Given the description of an element on the screen output the (x, y) to click on. 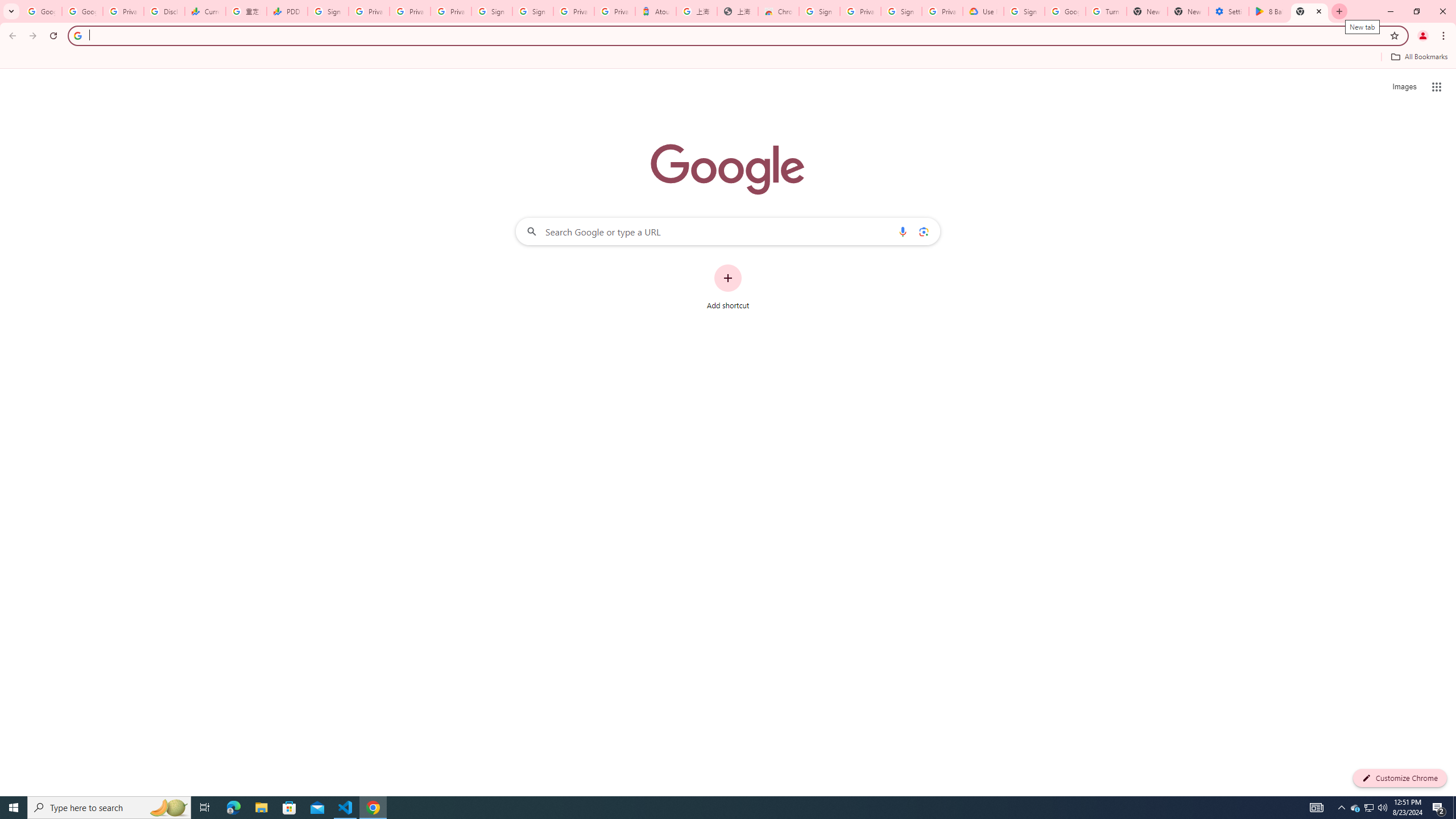
Customize Chrome (1399, 778)
Google Account Help (1064, 11)
Search by voice (902, 230)
Privacy Checkup (409, 11)
Search by image (922, 230)
Sign in - Google Accounts (1023, 11)
Sign in - Google Accounts (490, 11)
Search for Images  (1403, 87)
